Given the description of an element on the screen output the (x, y) to click on. 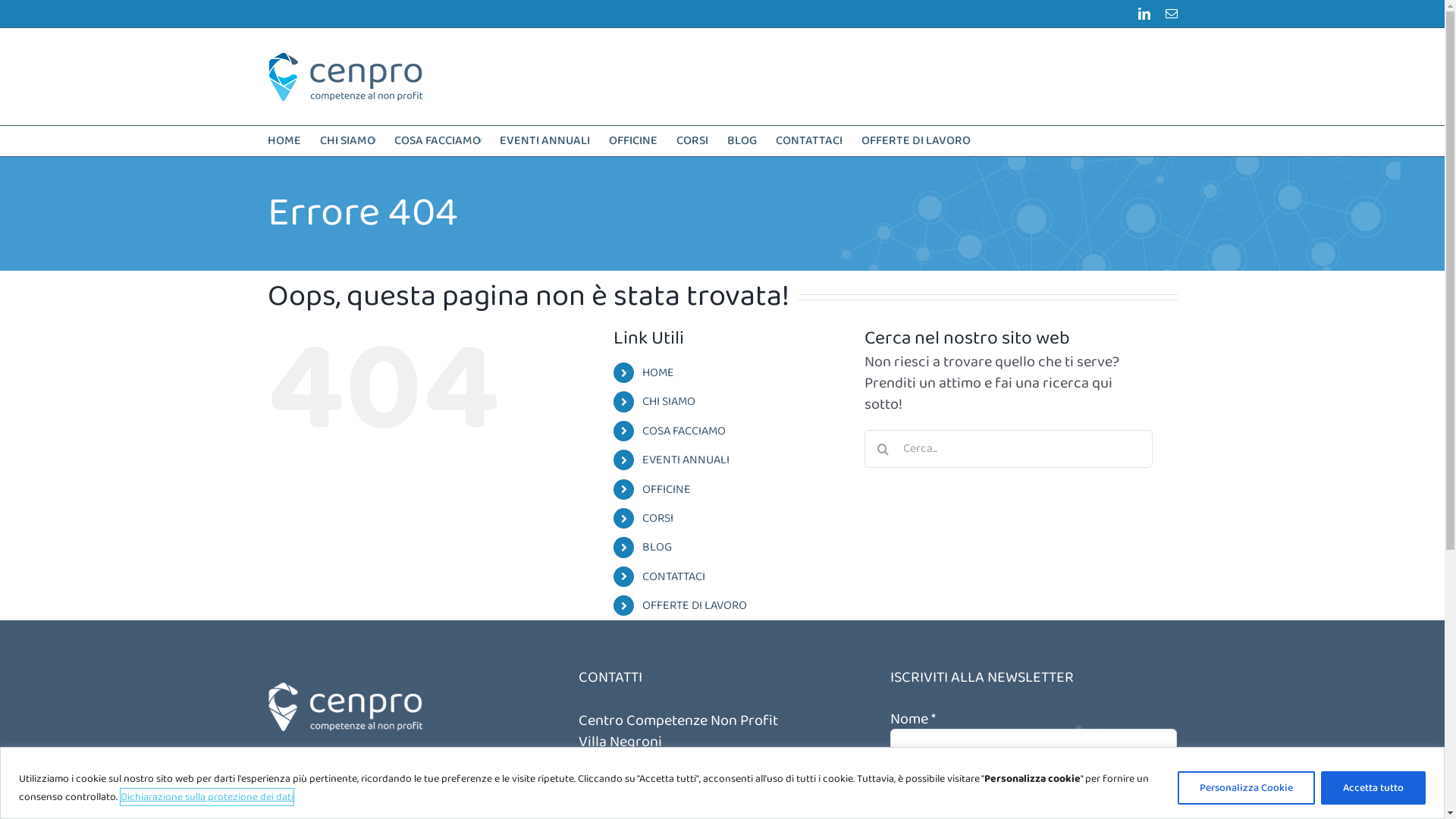
OFFERTE DI LAVORO Element type: text (915, 140)
LinkedIn Element type: text (1143, 13)
Personalizza Cookie Element type: text (1245, 786)
BLOG Element type: text (741, 140)
COSA FACCIAMO Element type: text (437, 140)
HOME Element type: text (658, 372)
Dichiarazione sulla protezione dei dati Element type: text (206, 796)
Accetta tutto Element type: text (1373, 786)
OFFICINE Element type: text (632, 140)
CORSI Element type: text (657, 517)
EVENTI ANNUALI Element type: text (543, 140)
CORSI Element type: text (692, 140)
CHI SIAMO Element type: text (347, 140)
CONTATTACI Element type: text (673, 576)
OFFICINE Element type: text (666, 489)
CHI SIAMO Element type: text (668, 401)
Email Element type: text (1170, 13)
COSA FACCIAMO Element type: text (683, 430)
CONTATTACI Element type: text (808, 140)
OFFERTE DI LAVORO Element type: text (694, 605)
HOME Element type: text (283, 140)
EVENTI ANNUALI Element type: text (685, 459)
BLOG Element type: text (656, 546)
